Given the description of an element on the screen output the (x, y) to click on. 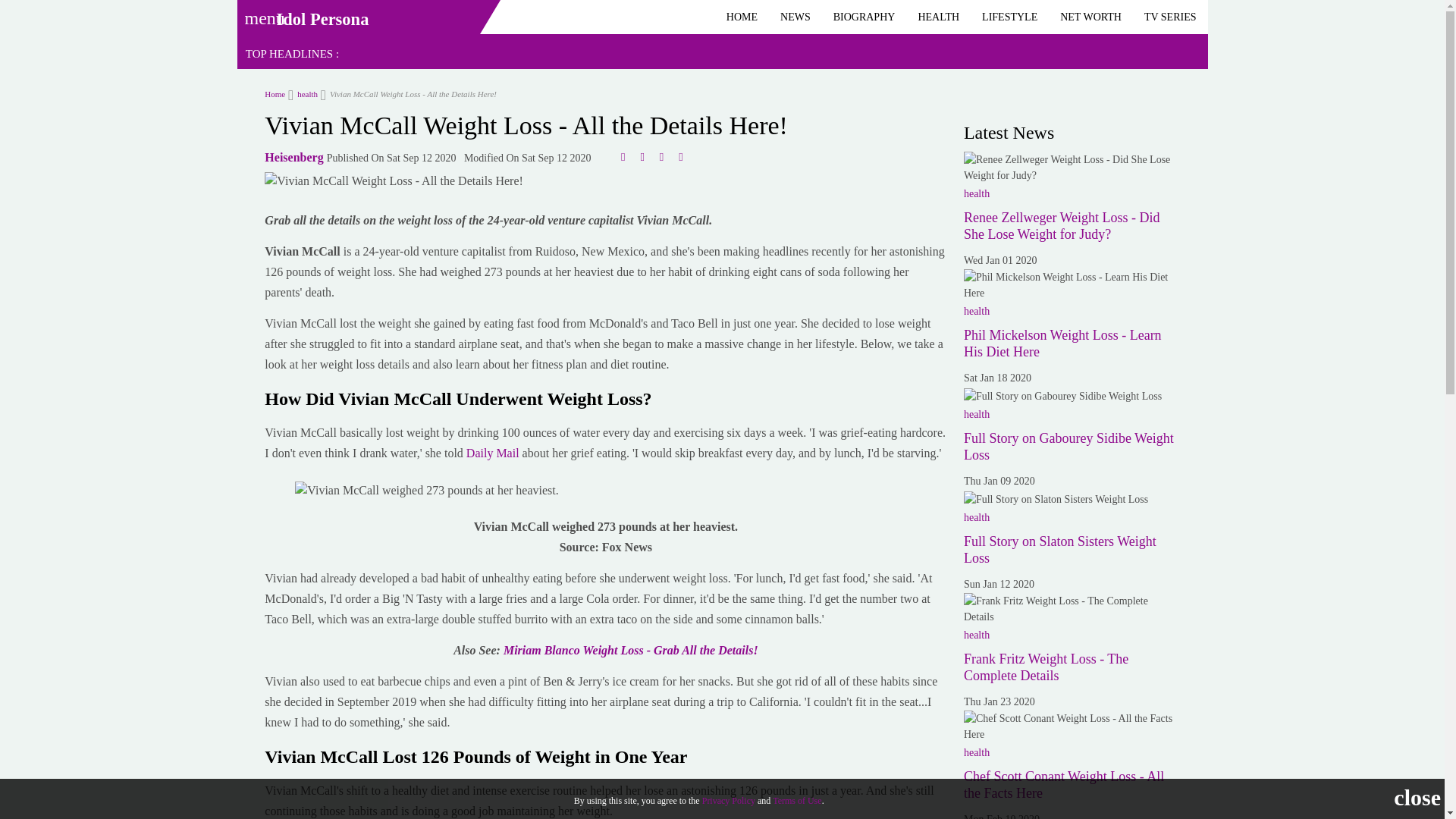
HEALTH (938, 17)
Terms of Use (797, 800)
menu (259, 13)
NET WORTH (1090, 17)
Full Story on Gabourey Sidibe Weight Loss (1062, 396)
health (302, 93)
NEWS (795, 17)
Chef Scott Conant Weight Loss - All the Facts Here (1063, 784)
TV SERIES (1170, 17)
Renee Zellweger Weight Loss - Did She Lose Weight for Judy? (1061, 225)
BIOGRAPHY (864, 17)
Chef Scott Conant Weight Loss - All the Facts Here (1071, 726)
Frank Fritz Weight Loss - The Complete Details (1071, 608)
Phil Mickelson Weight Loss - Learn His Diet Here (1071, 285)
Frank Fritz Weight Loss - The Complete Details (1045, 667)
